Given the description of an element on the screen output the (x, y) to click on. 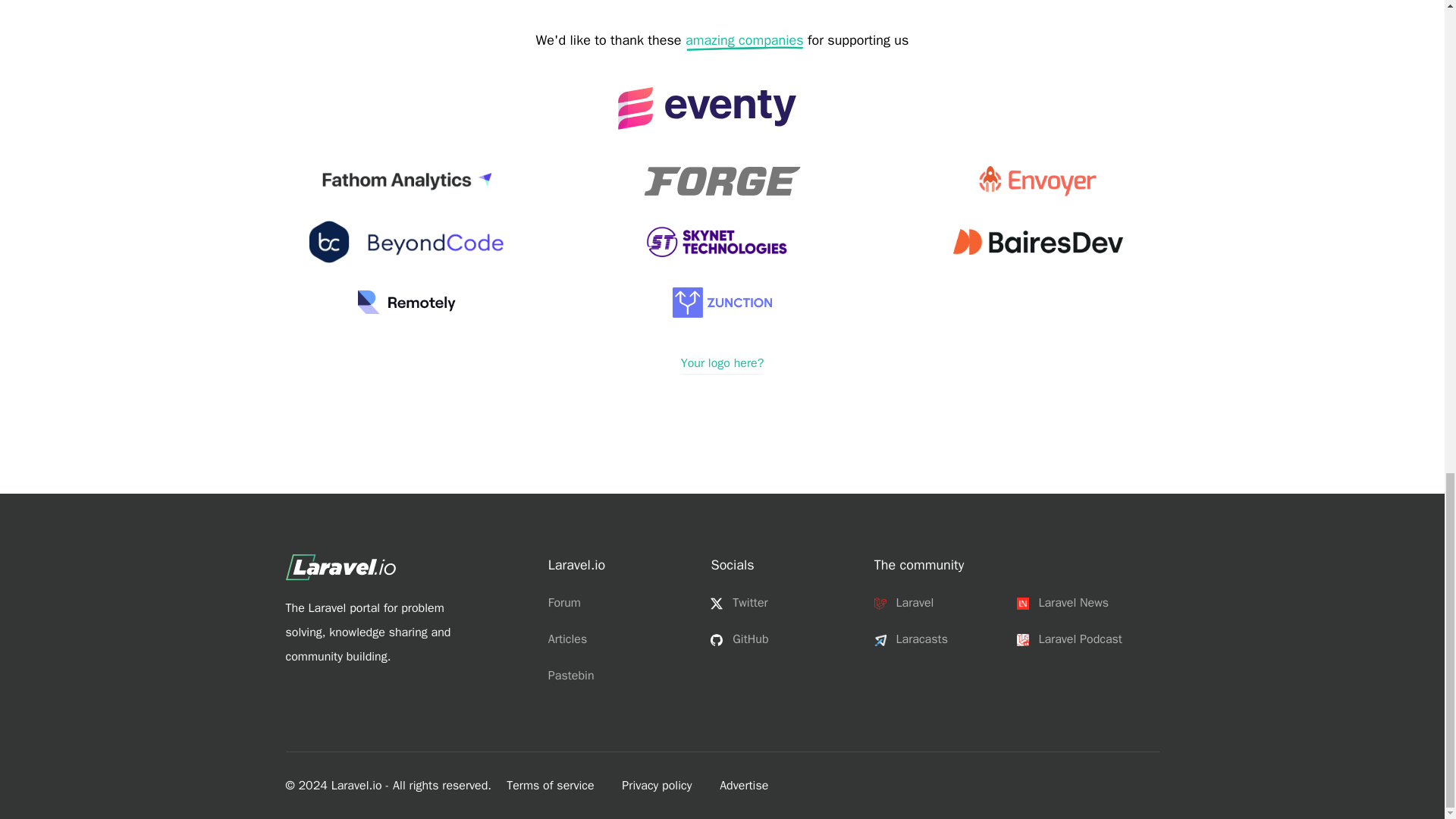
X (716, 603)
